Given the description of an element on the screen output the (x, y) to click on. 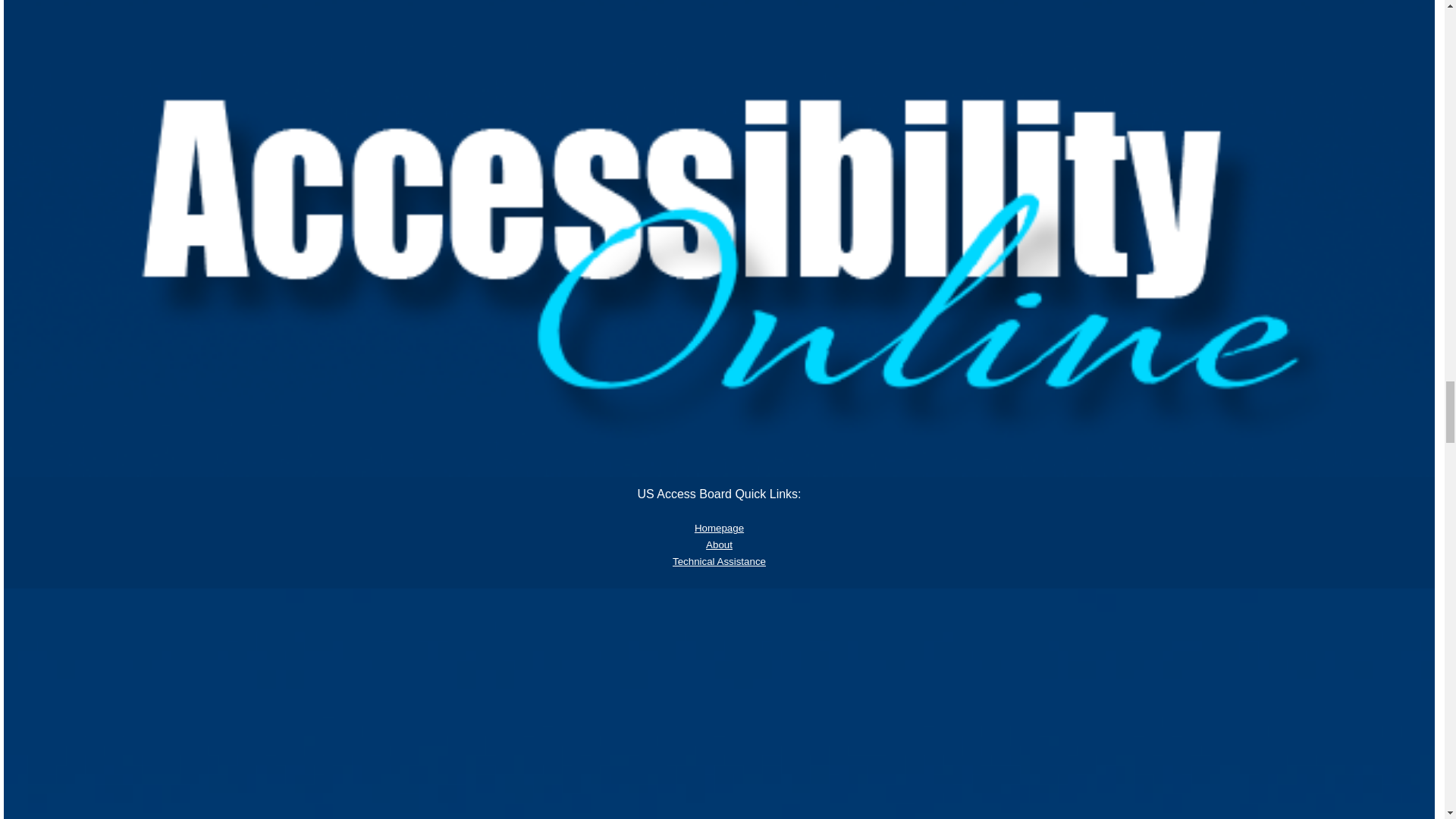
Technical Assistance (718, 561)
Homepage (719, 527)
About (719, 544)
